Given the description of an element on the screen output the (x, y) to click on. 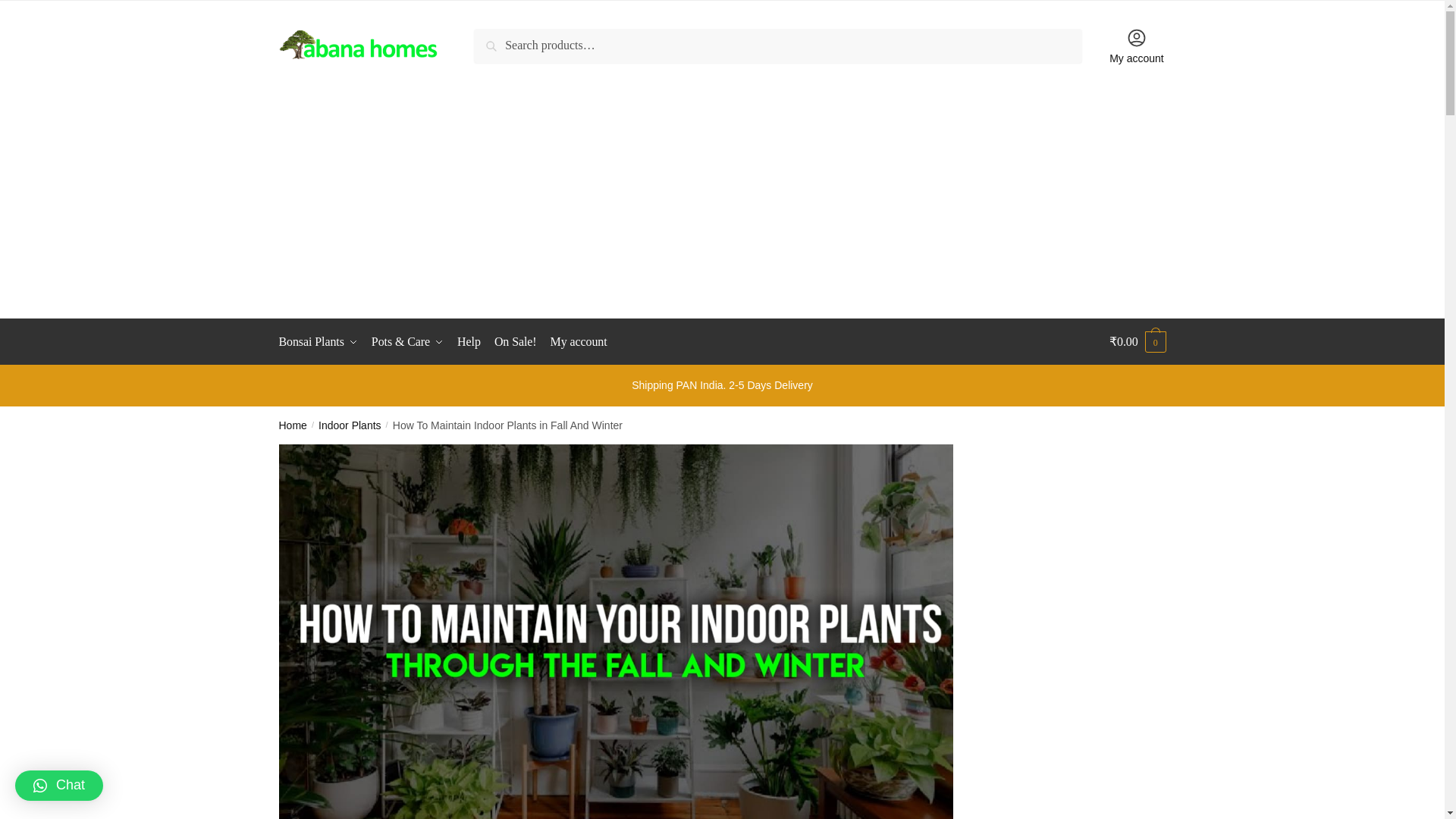
Home (293, 425)
My account (578, 341)
View your shopping cart (1137, 341)
Search (495, 38)
Bonsai Plants (322, 341)
On Sale! (515, 341)
My account (1136, 45)
Indoor Plants (349, 425)
